Given the description of an element on the screen output the (x, y) to click on. 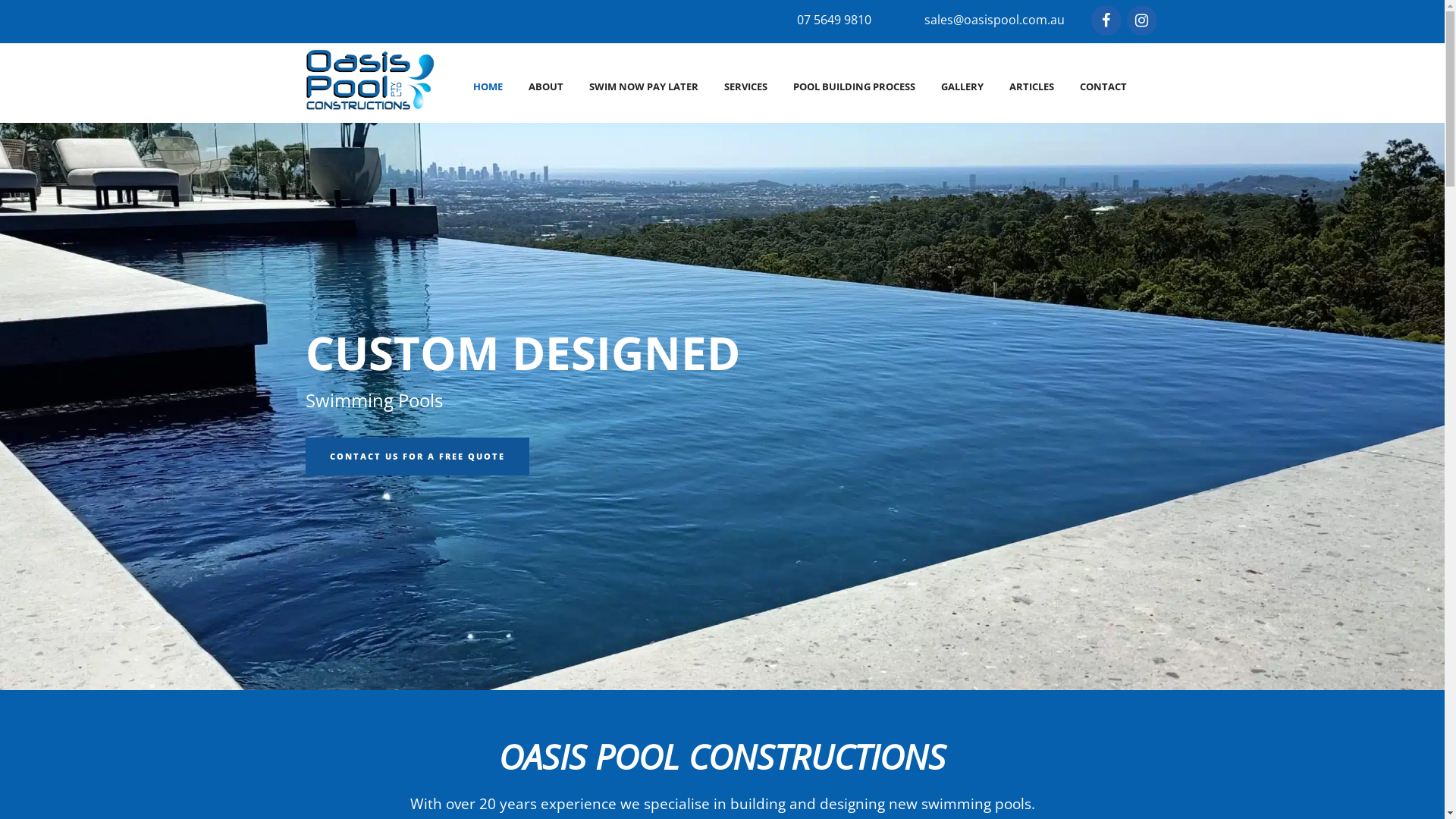
ARTICLES Element type: text (1031, 86)
sales@oasispool.com.au Element type: text (993, 19)
GALLERY Element type: text (962, 86)
CONTACT US FOR A FREE QUOTE Element type: text (416, 456)
POOL BUILDING PROCESS Element type: text (853, 86)
SERVICES Element type: text (745, 86)
CONTACT Element type: text (1102, 86)
07 5649 9810 Element type: text (833, 19)
SWIM NOW PAY LATER Element type: text (643, 86)
ABOUT Element type: text (545, 86)
HOME Element type: text (486, 86)
